Given the description of an element on the screen output the (x, y) to click on. 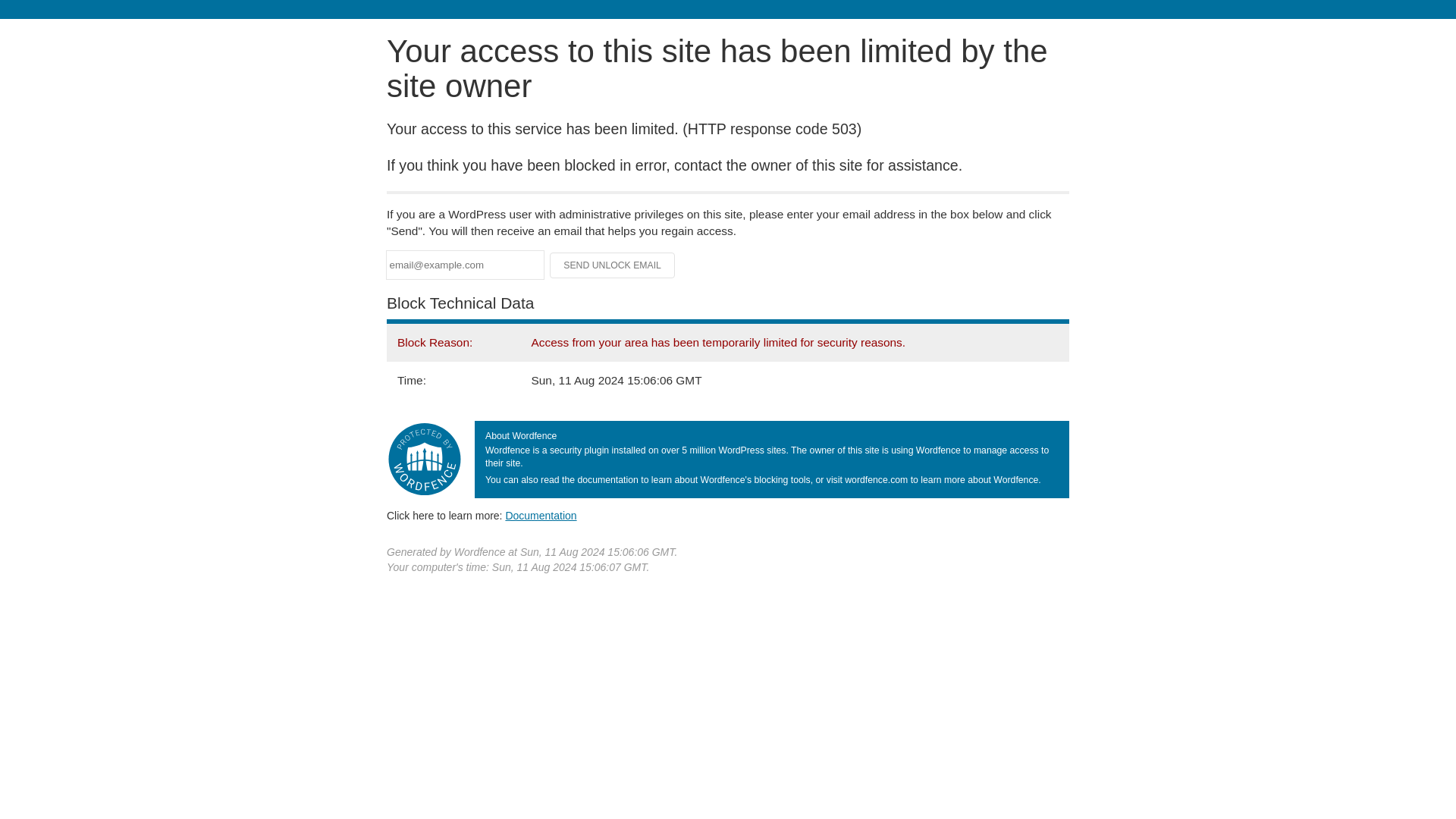
Send Unlock Email (612, 265)
Documentation (540, 515)
Send Unlock Email (612, 265)
